Given the description of an element on the screen output the (x, y) to click on. 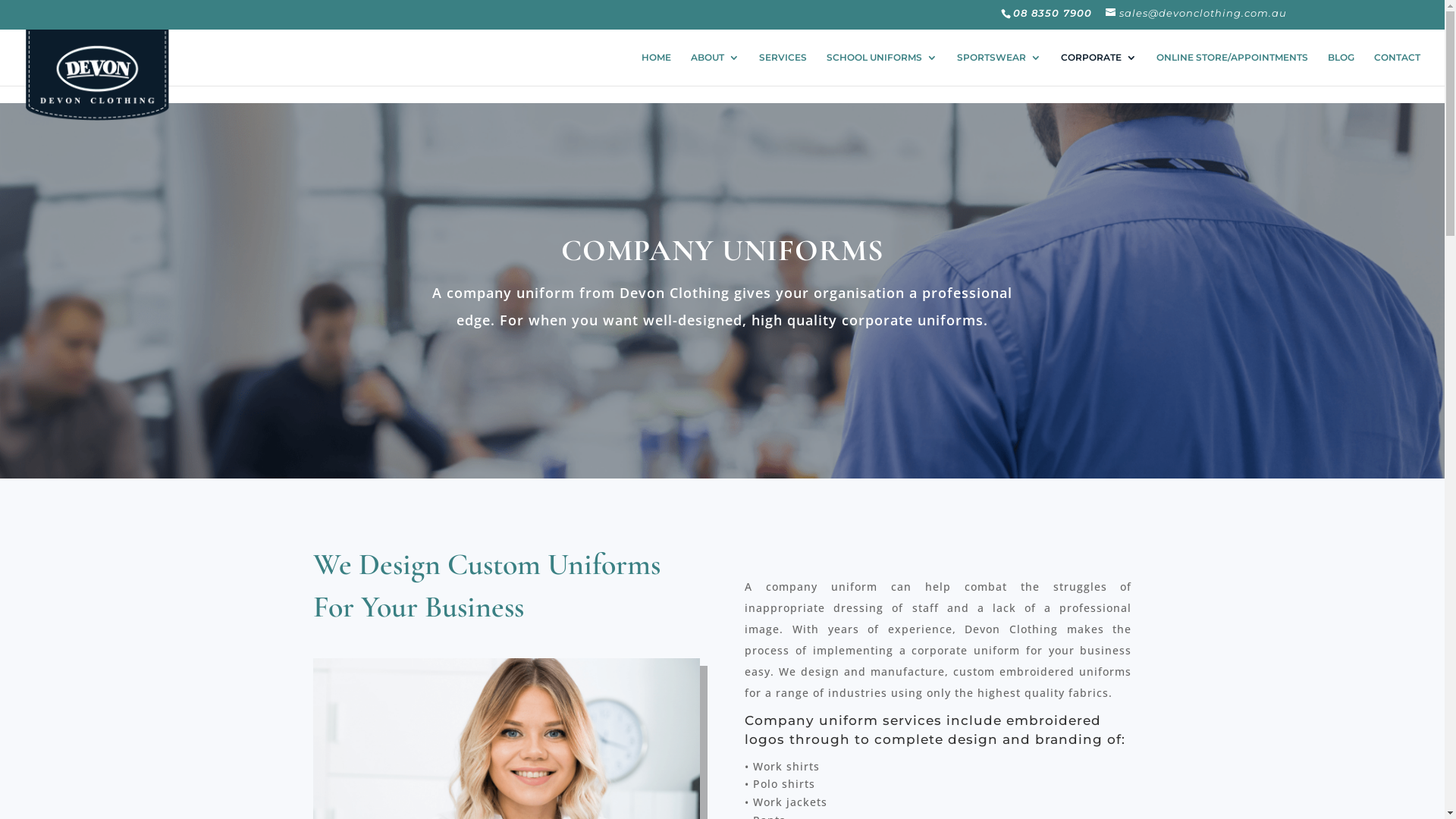
HOME Element type: text (656, 68)
SPORTSWEAR Element type: text (999, 68)
CONTACT Element type: text (1397, 68)
CORPORATE Element type: text (1098, 68)
BLOG Element type: text (1340, 68)
sales@devonclothing.com.au Element type: text (1195, 12)
ONLINE STORE/APPOINTMENTS Element type: text (1232, 68)
ABOUT Element type: text (714, 68)
SCHOOL UNIFORMS Element type: text (881, 68)
SERVICES Element type: text (782, 68)
